Given the description of an element on the screen output the (x, y) to click on. 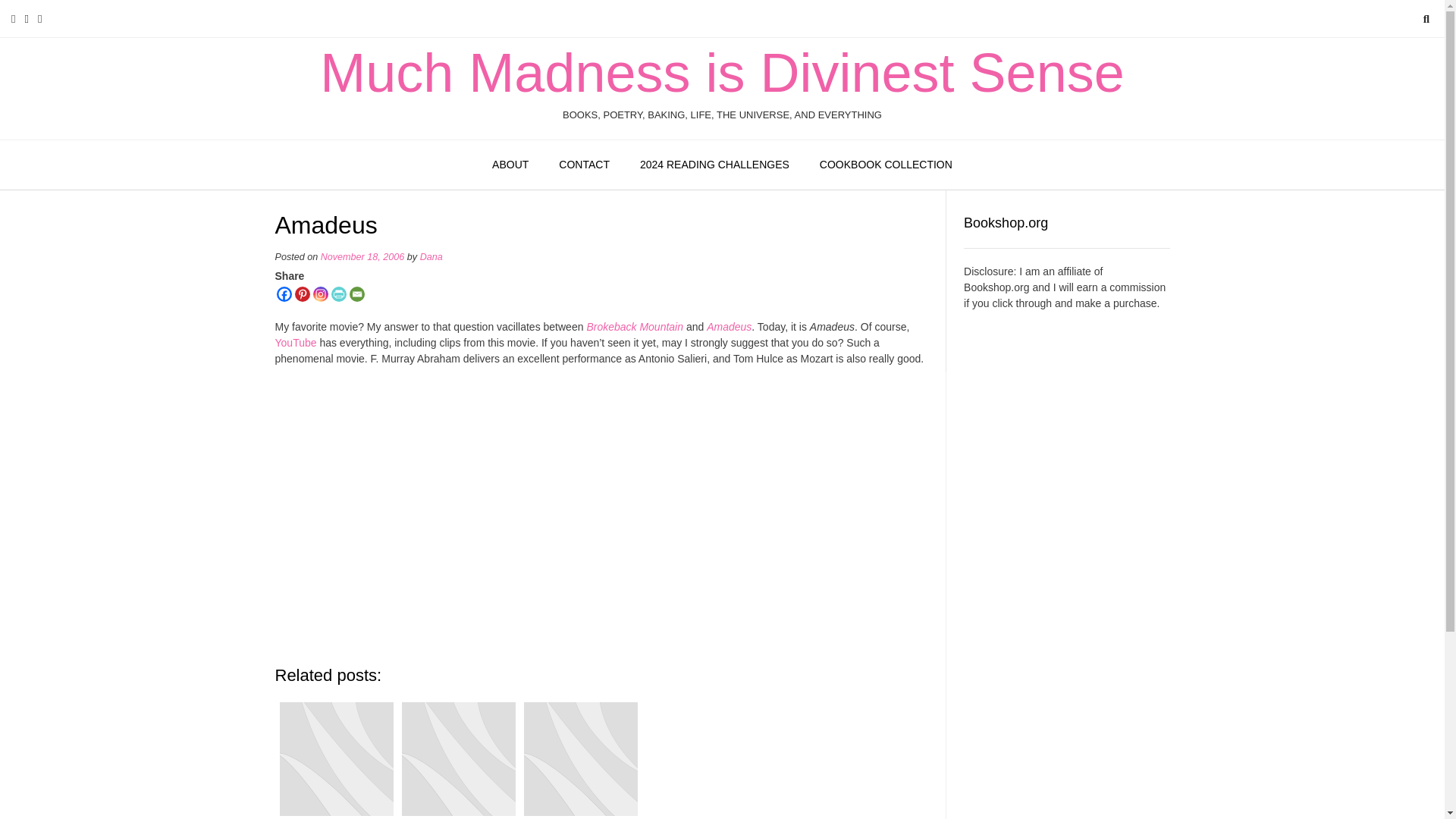
The Thorn Birds (336, 758)
ABOUT (510, 165)
Pinterest (301, 294)
PrintFriendly (338, 294)
Much Madness is Divinest Sense (722, 72)
COOKBOOK COLLECTION (886, 165)
Much Madness is Divinest Sense (722, 72)
November 18, 2006 (362, 256)
Dana (431, 256)
Bookshop.org (996, 287)
Brokeback Mountain (634, 326)
New Tunes (580, 758)
CONTACT (583, 165)
Norah Jones Sampler (458, 758)
